Given the description of an element on the screen output the (x, y) to click on. 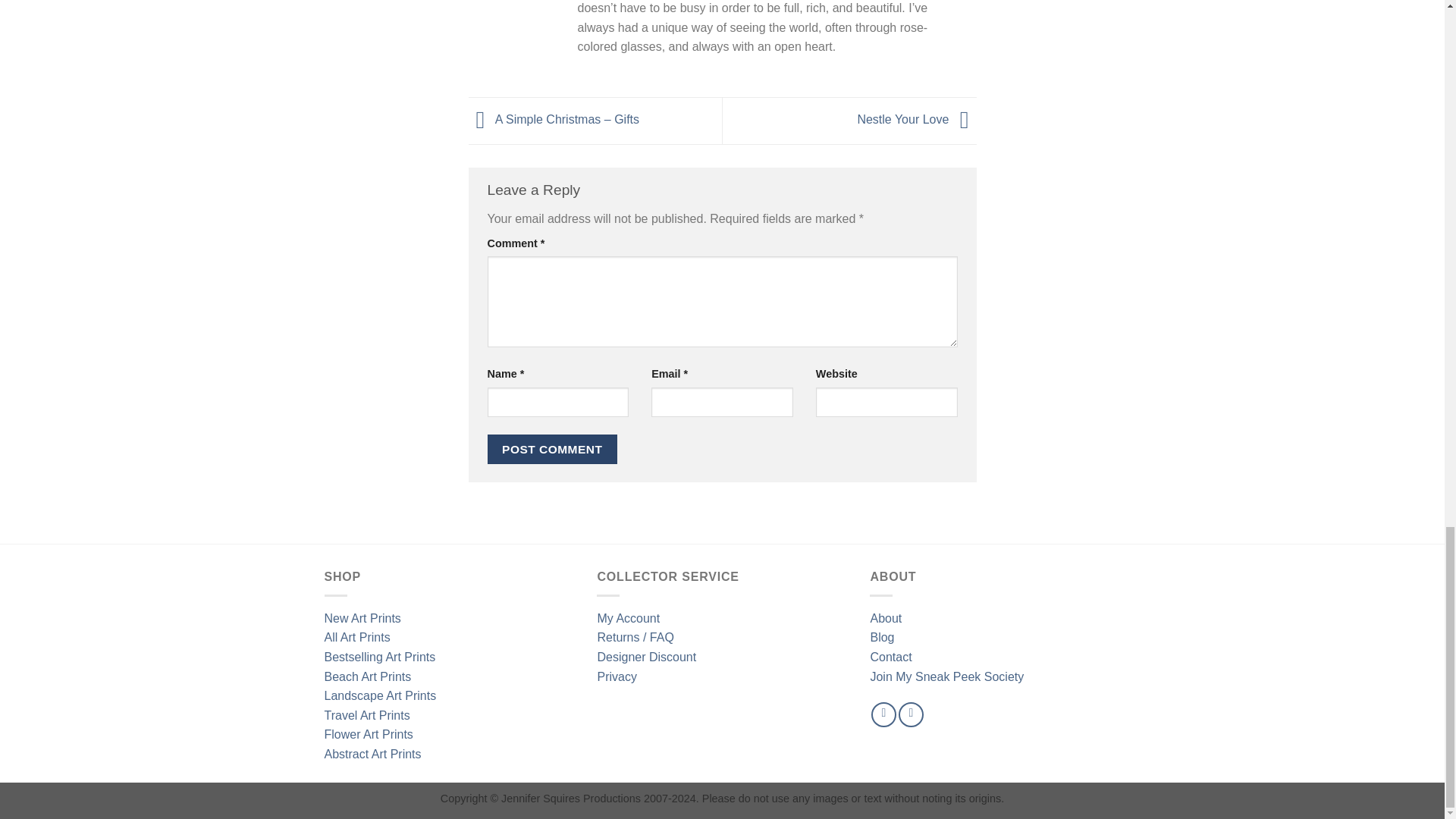
Post Comment (551, 449)
Follow on Instagram (910, 714)
Follow on Facebook (883, 714)
